Given the description of an element on the screen output the (x, y) to click on. 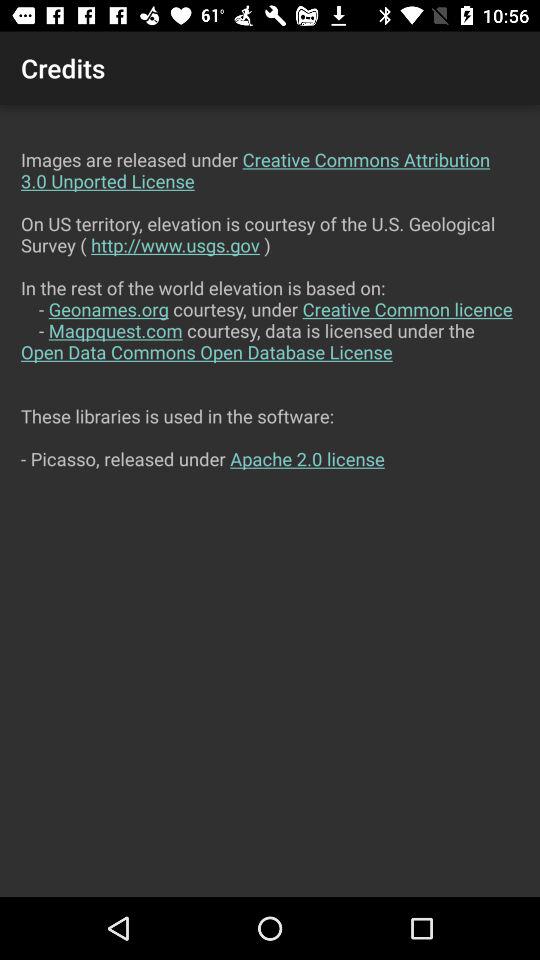
click the images are released at the center (270, 500)
